Given the description of an element on the screen output the (x, y) to click on. 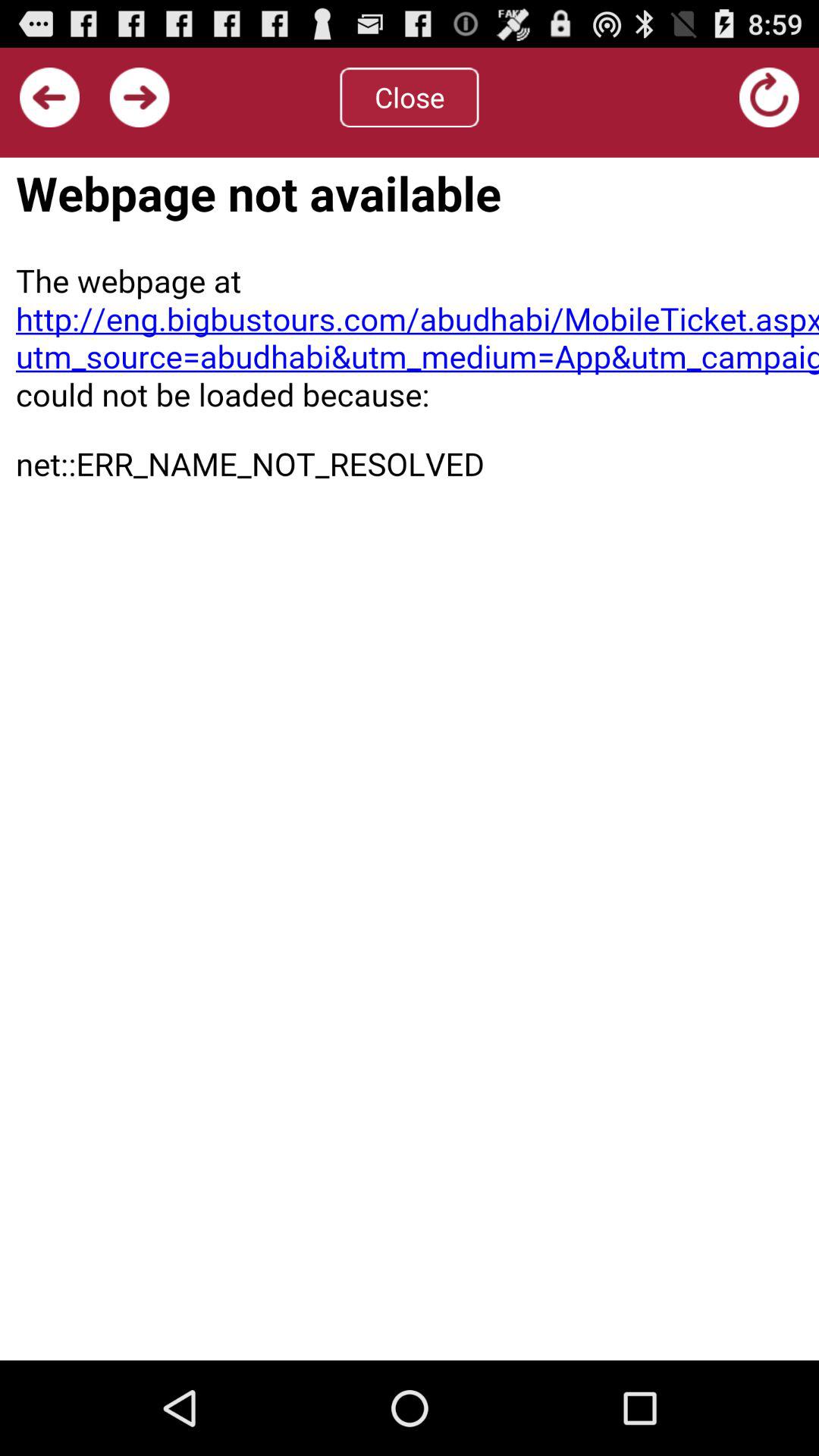
go to loading (769, 97)
